Given the description of an element on the screen output the (x, y) to click on. 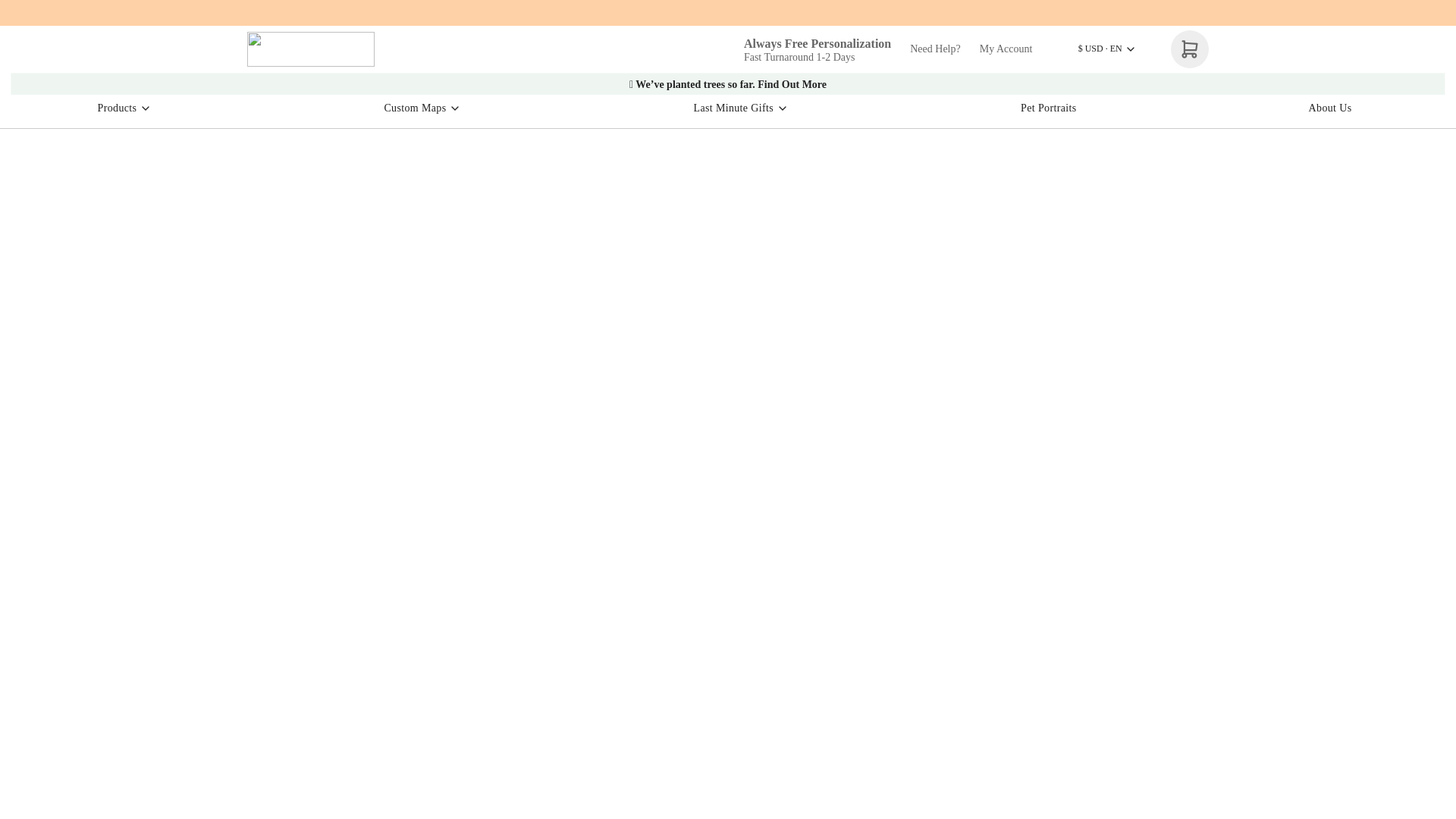
My Account (1005, 48)
Custom Maps (422, 111)
Last Minute Gifts (742, 111)
Cart (1189, 48)
Printed Memories (310, 48)
Products (124, 111)
Need Help? (934, 48)
Find Out More (792, 84)
